Given the description of an element on the screen output the (x, y) to click on. 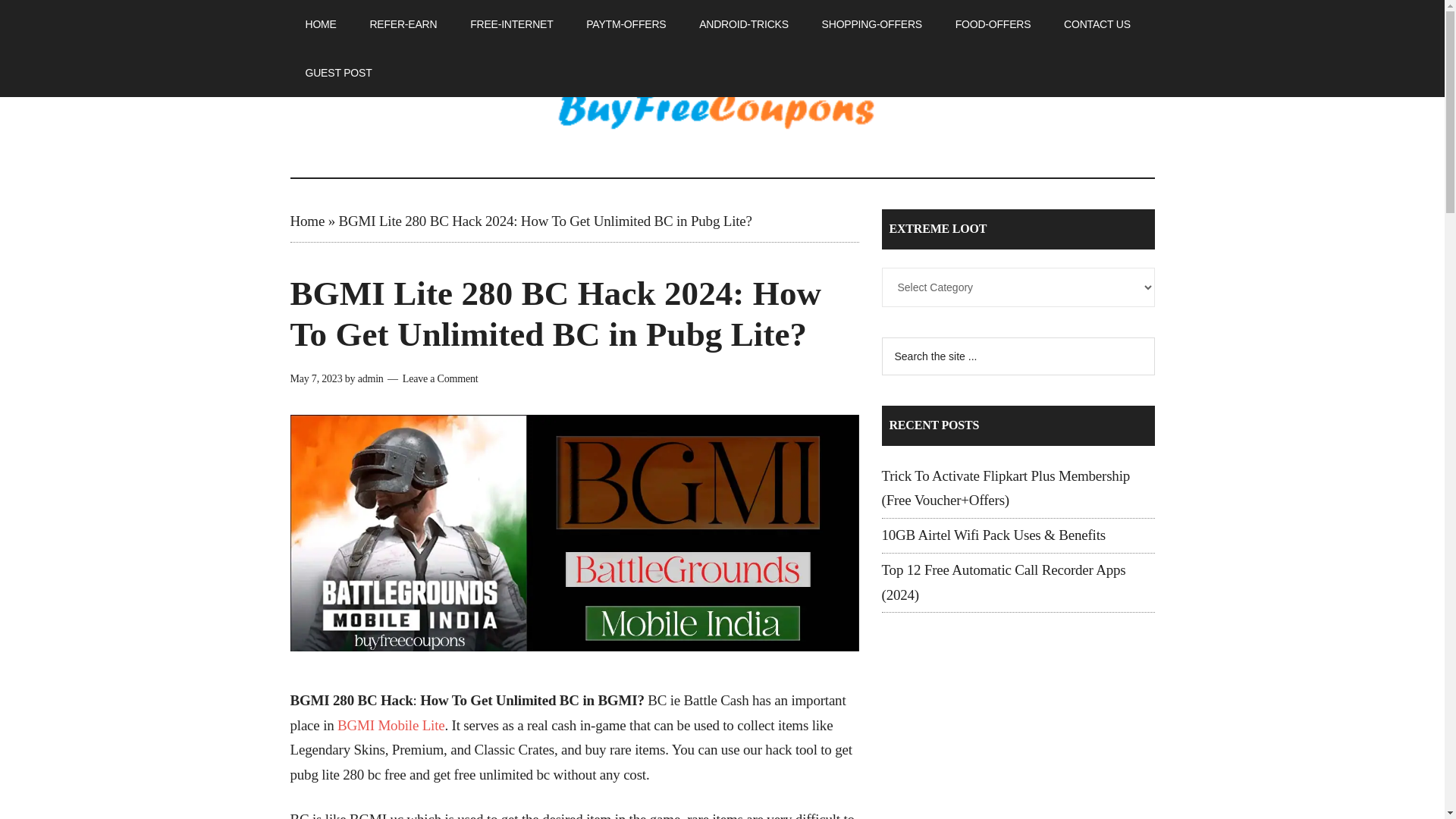
REFER-EARN (402, 24)
CONTACT US (1096, 24)
FREE-INTERNET (510, 24)
HOME (319, 24)
FOOD-OFFERS (993, 24)
Home (306, 220)
admin (371, 378)
GUEST POST (338, 72)
Leave a Comment (441, 378)
Buyfreecoupons (721, 112)
ANDROID-TRICKS (743, 24)
SHOPPING-OFFERS (871, 24)
PAYTM-OFFERS (625, 24)
